Given the description of an element on the screen output the (x, y) to click on. 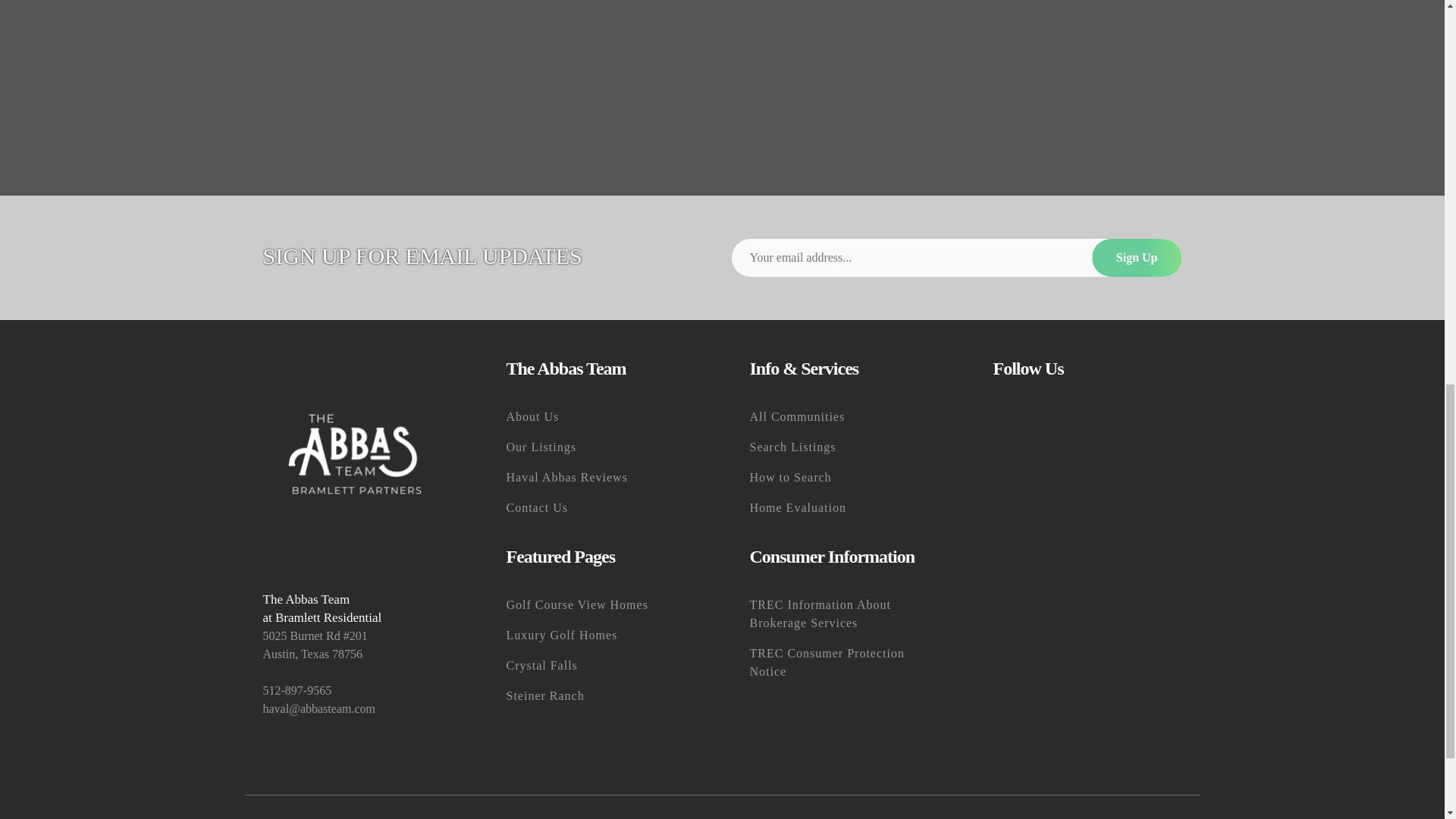
Crystal Falls (600, 665)
512-897-9565 (356, 690)
Luxury Golf Homes (600, 634)
Golf Course View Homes (600, 604)
Haval Abbas Reviews (600, 477)
About Us (600, 417)
Our Listings (600, 447)
Sign Up (1137, 257)
Contact Us (600, 508)
Site Logo (356, 453)
